Given the description of an element on the screen output the (x, y) to click on. 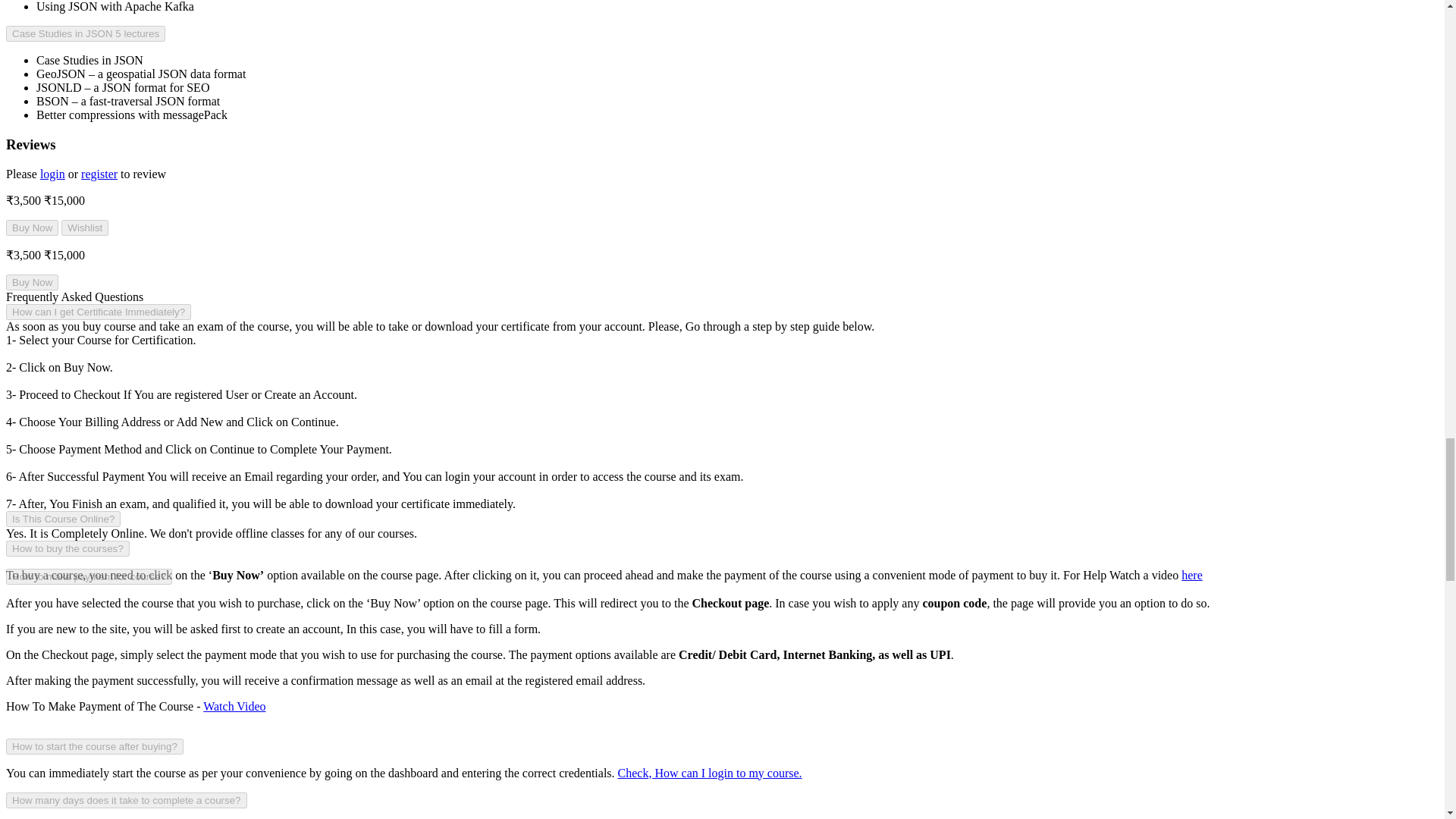
Buy Now (31, 227)
Buy Now (31, 282)
How can I get Certificate Immediately? (97, 311)
Is This Course Online? (62, 519)
here (1191, 575)
Wishlist (84, 227)
Case Studies in JSON 5 lectures (85, 33)
login (52, 173)
How to buy the courses? (67, 548)
register (99, 173)
